Given the description of an element on the screen output the (x, y) to click on. 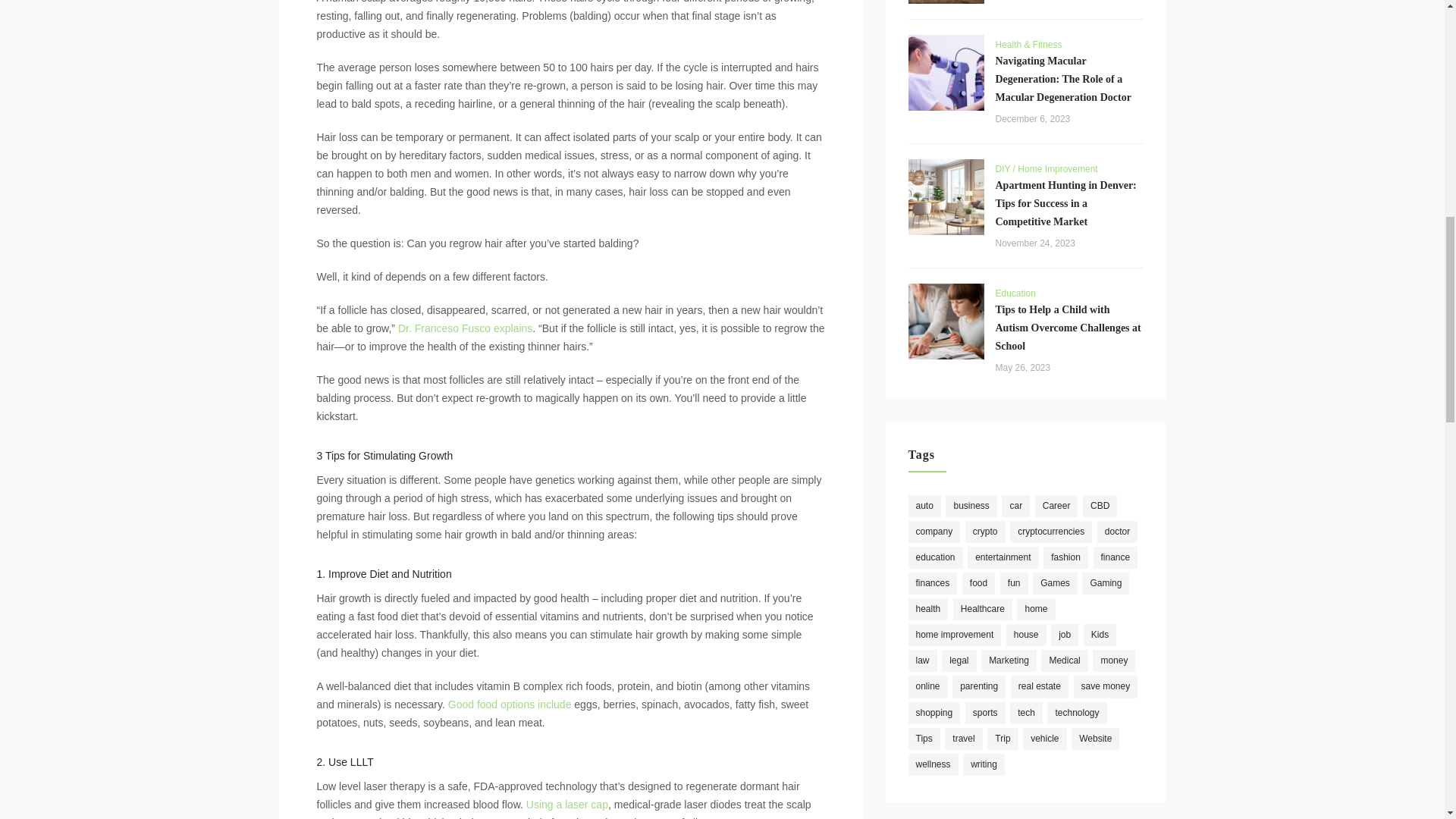
Good food options include (510, 704)
Dr. Franceso Fusco explains (464, 328)
